Given the description of an element on the screen output the (x, y) to click on. 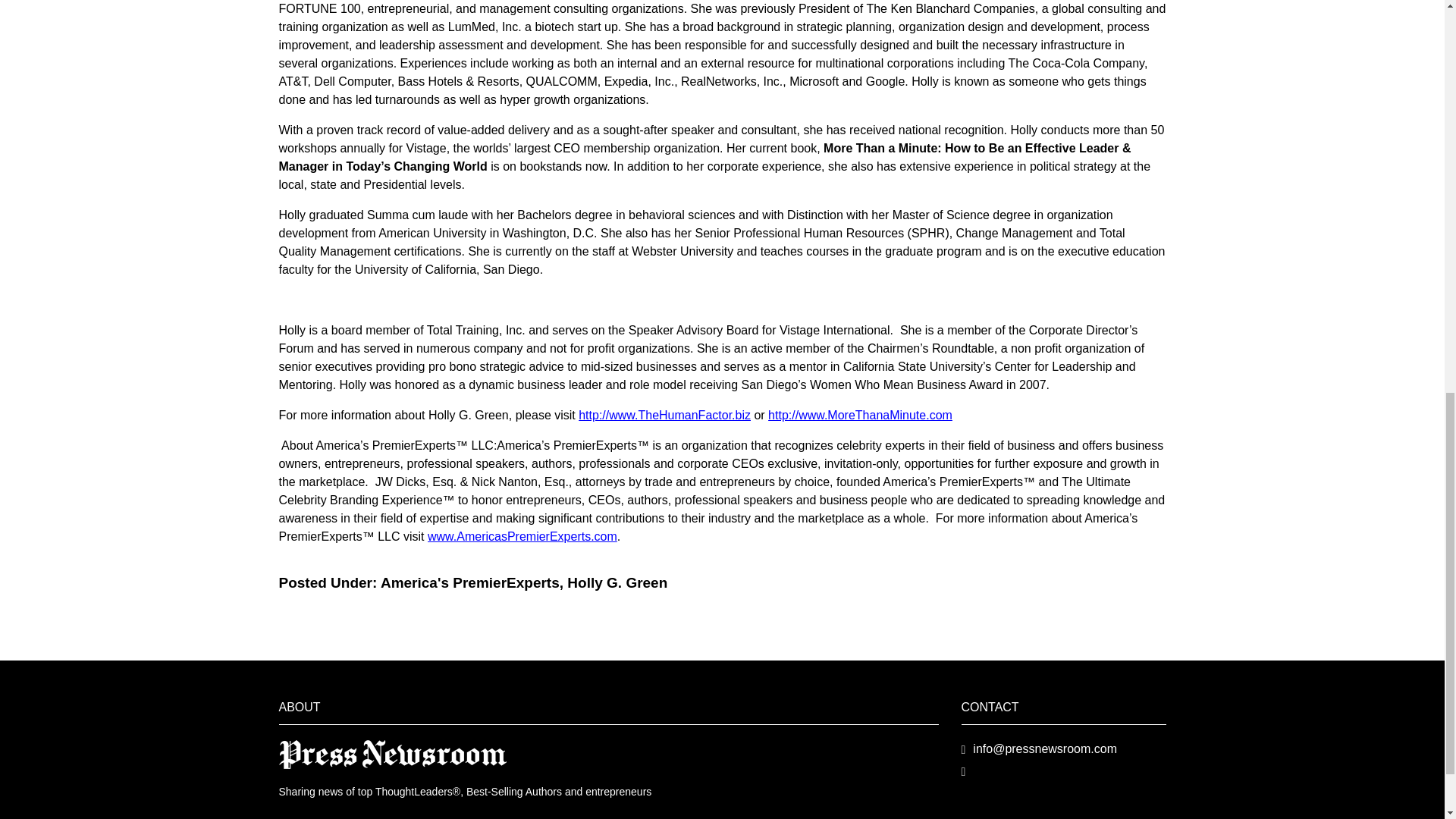
America's PremierExperts (469, 582)
PressNewsRoom (392, 753)
Holly G. Green (616, 582)
www.AmericasPremierExperts.com (522, 535)
